Given the description of an element on the screen output the (x, y) to click on. 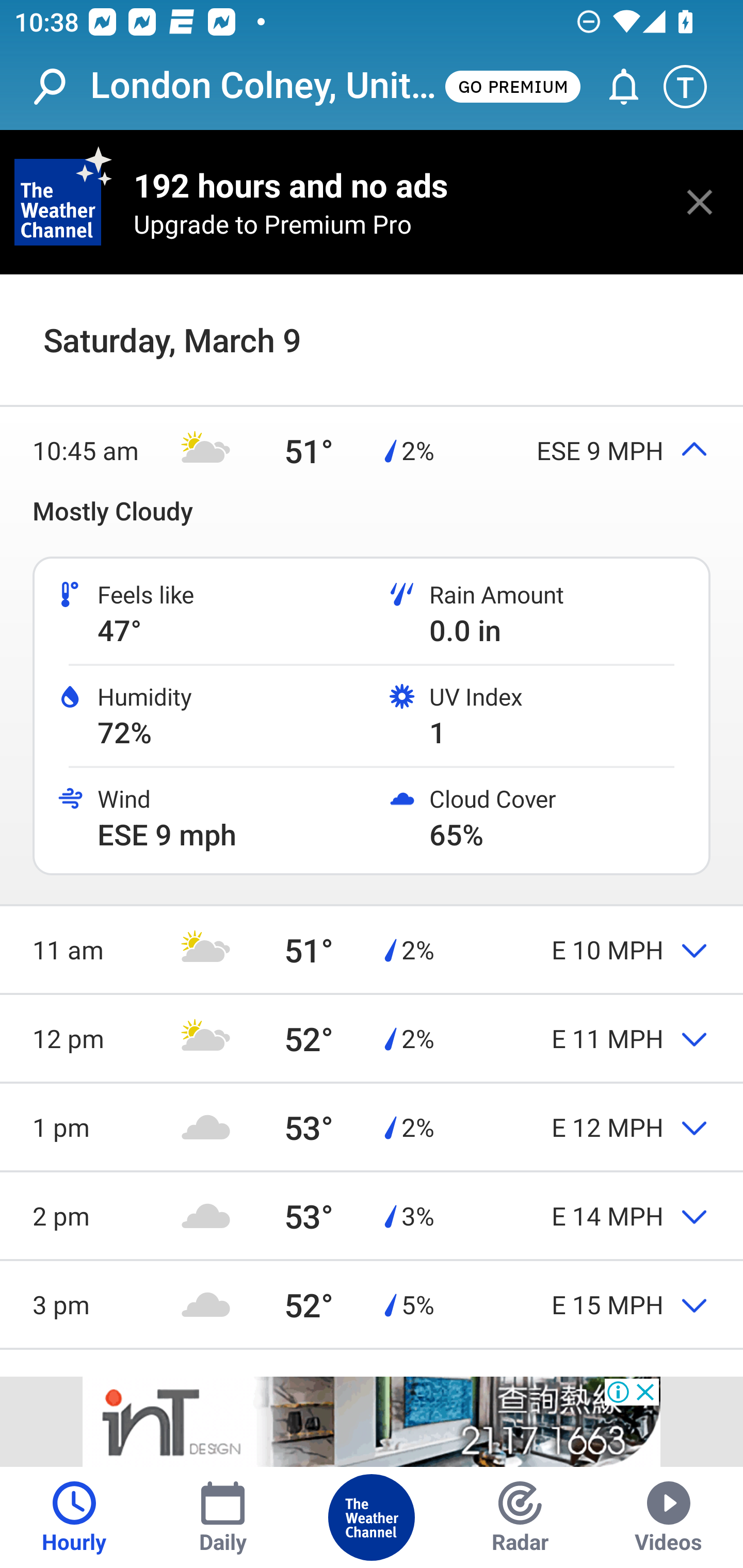
Search (59, 86)
Go to Alerts and Notifications (614, 86)
Setting icon T (694, 86)
London Colney, United Kingdom (265, 85)
GO PREMIUM (512, 85)
close this (699, 202)
10:45 am 51° 2% ESE 9 MPH (371, 450)
11 am 51° 2% E 10 MPH (371, 949)
12 pm 52° 2% E 11 MPH (371, 1038)
1 pm 53° 2% E 12 MPH (371, 1126)
2 pm 53° 3% E 14 MPH (371, 1215)
3 pm 52° 5% E 15 MPH (371, 1304)
Daily Tab Daily (222, 1517)
Home Tab (371, 1517)
Radar Tab Radar (519, 1517)
Videos Tab Videos (668, 1517)
